Given the description of an element on the screen output the (x, y) to click on. 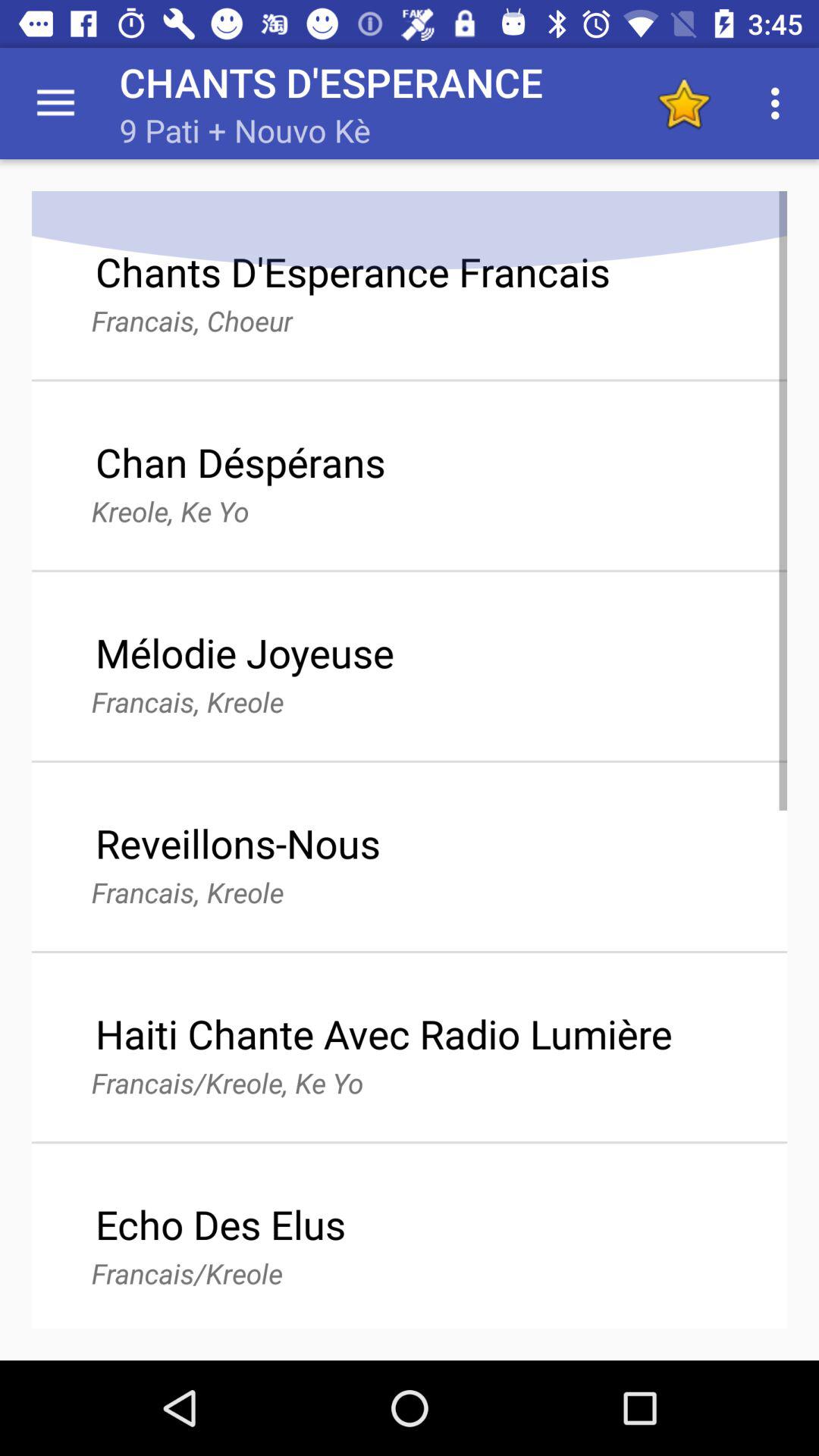
open haiti chante avec item (383, 1033)
